Given the description of an element on the screen output the (x, y) to click on. 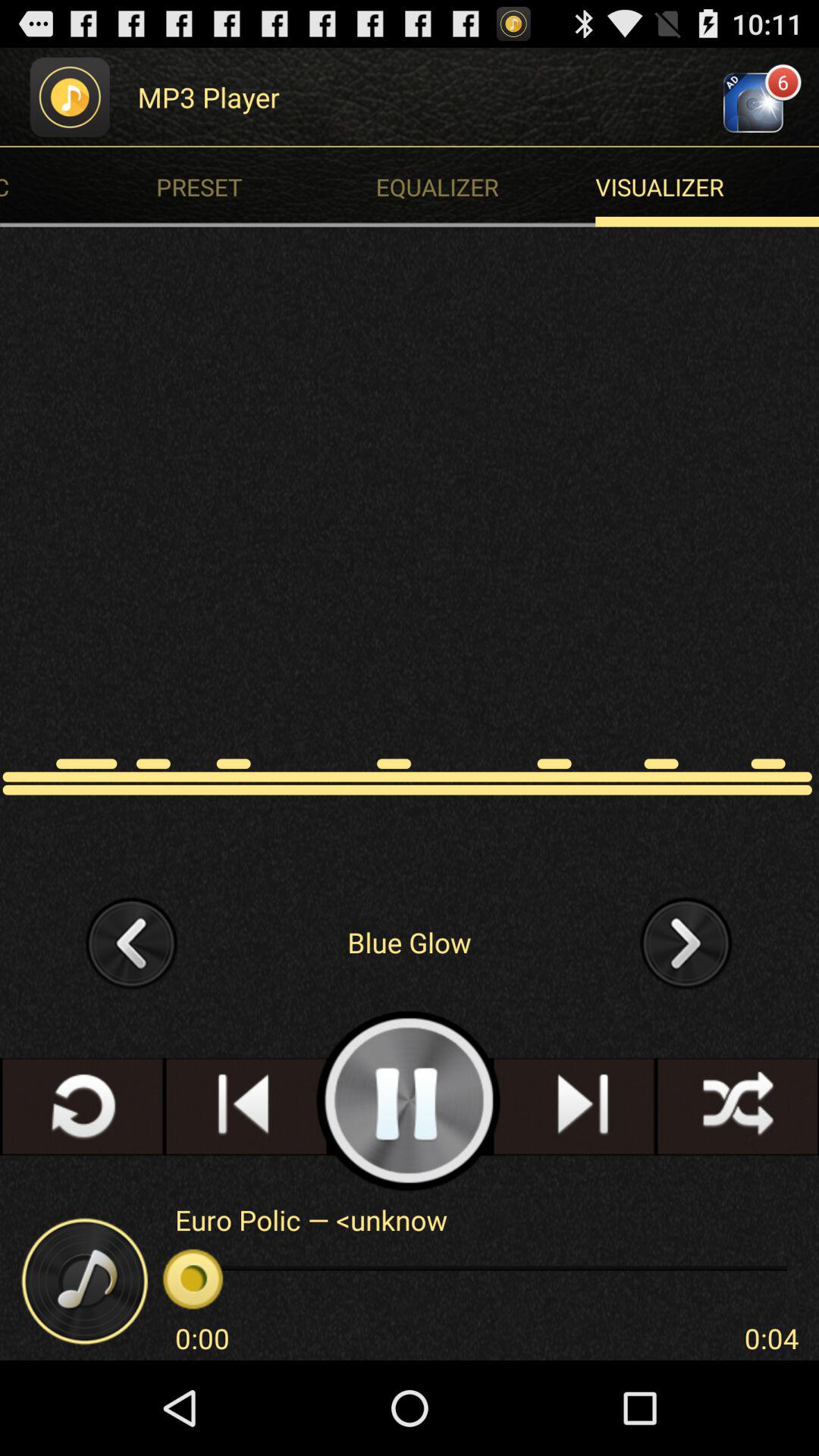
launch the item to the left of visualizer icon (269, 186)
